Given the description of an element on the screen output the (x, y) to click on. 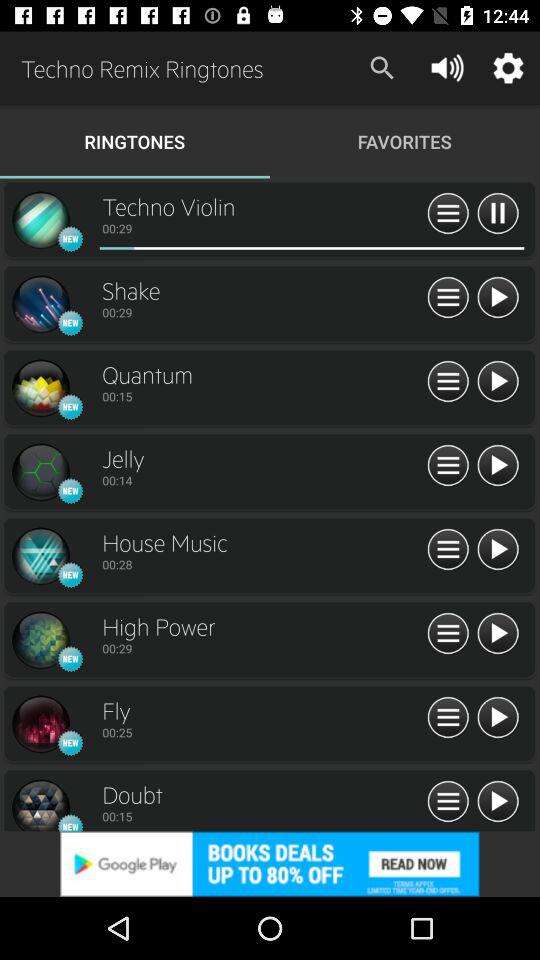
play 'high power (497, 633)
